Given the description of an element on the screen output the (x, y) to click on. 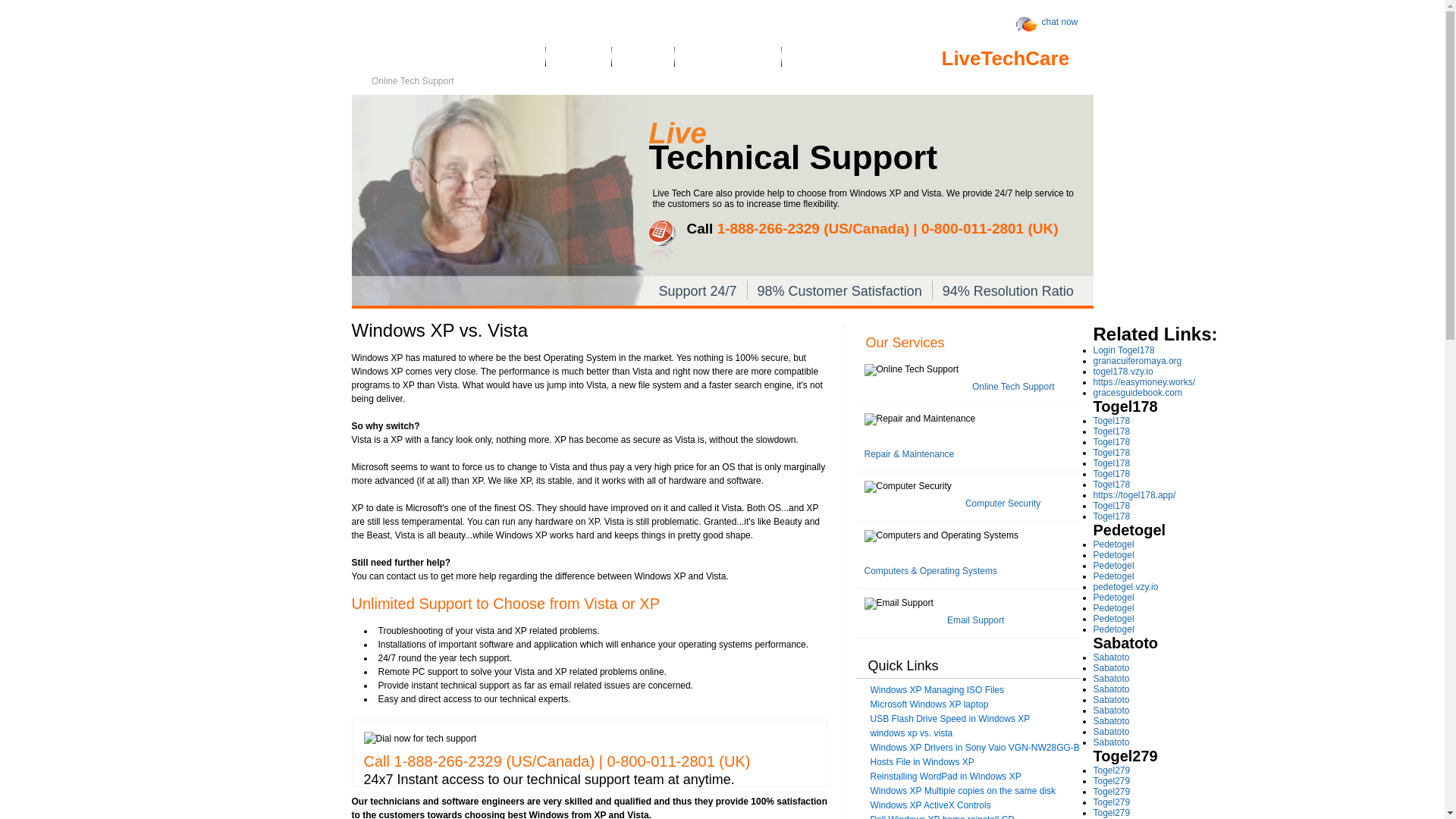
Microsoft Windows XP laptop (929, 704)
Computer Security (1003, 502)
Hosts File in Windows XP (922, 761)
Windows XP Managing ISO Files (937, 689)
Windows XP ActiveX Controls (930, 805)
Email Support (975, 620)
Home (516, 61)
Windows XP Multiple copies on the same disk (963, 790)
Our Plans (816, 61)
Windows XP Drivers in Sony Vaio VGN-NW28GG-B (975, 747)
USB Flash Drive Speed in Windows XP (950, 718)
Services (578, 61)
windows xp vs. vista (911, 733)
Customer Reviews (728, 61)
Online Tech Support (1013, 386)
